Given the description of an element on the screen output the (x, y) to click on. 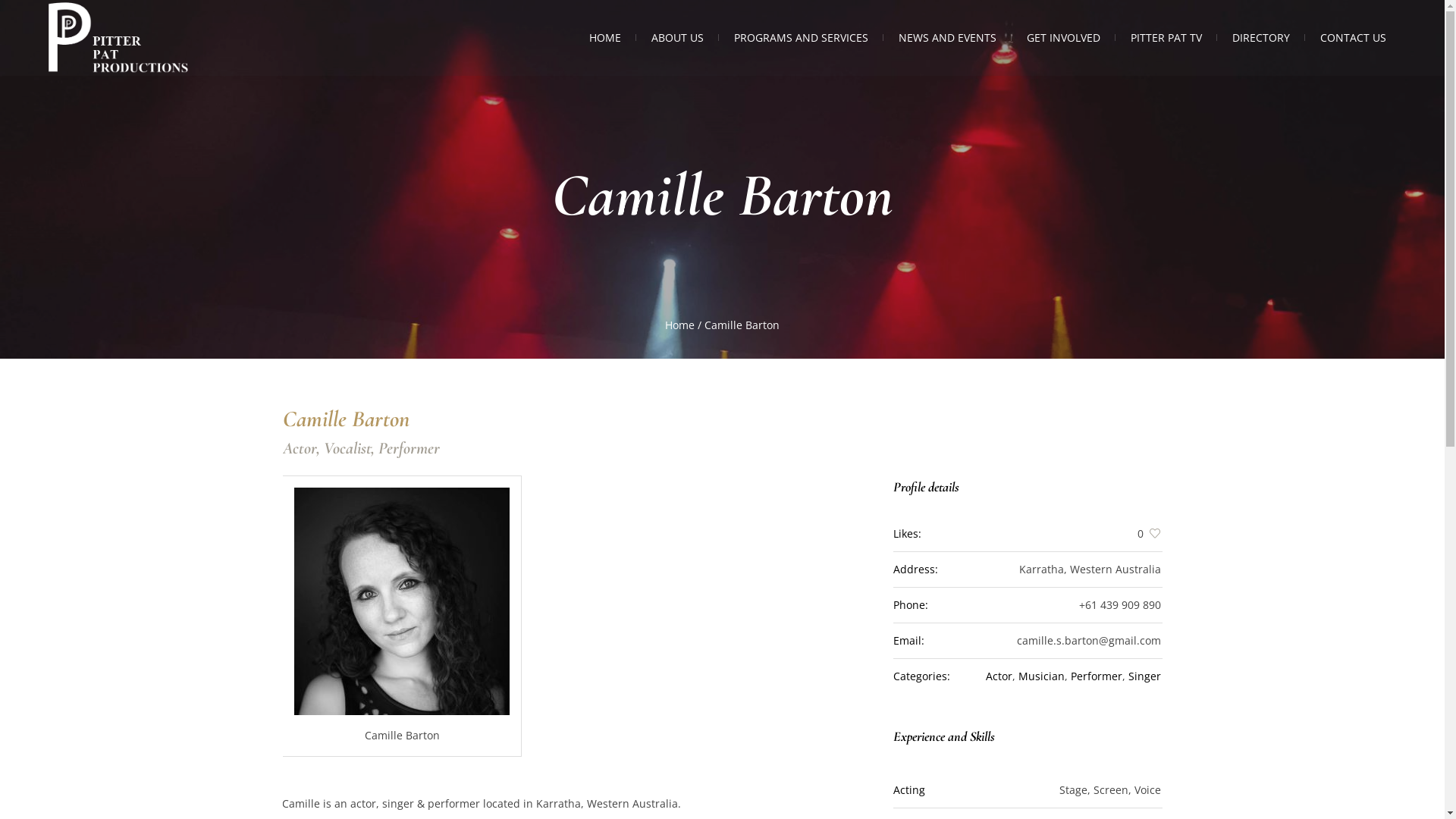
0 Element type: text (1137, 533)
GET INVOLVED Element type: text (1063, 37)
PITTER PAT TV Element type: text (1166, 37)
CONTACT US Element type: text (1353, 37)
Actor Element type: text (998, 675)
DIRECTORY Element type: text (1261, 37)
Performer Element type: text (1096, 675)
ABOUT US Element type: text (677, 37)
Musician Element type: text (1040, 675)
NEWS AND EVENTS Element type: text (947, 37)
HOME Element type: text (605, 37)
PROGRAMS AND SERVICES Element type: text (800, 37)
Singer Element type: text (1144, 675)
Home Element type: text (679, 324)
